Given the description of an element on the screen output the (x, y) to click on. 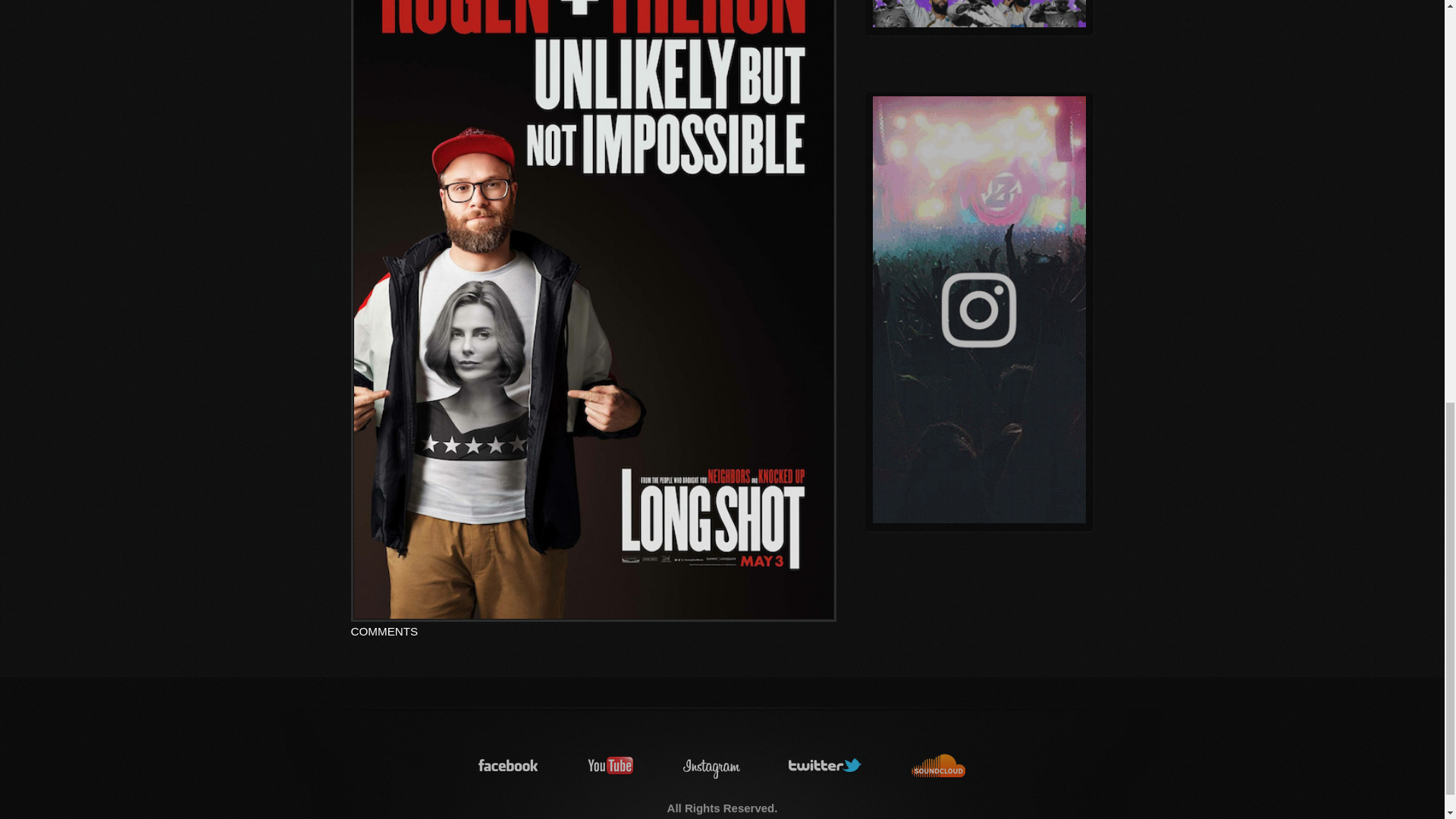
facebook (508, 765)
twitter (826, 765)
soundcloud (938, 765)
instagram (710, 765)
youtube (611, 765)
